Given the description of an element on the screen output the (x, y) to click on. 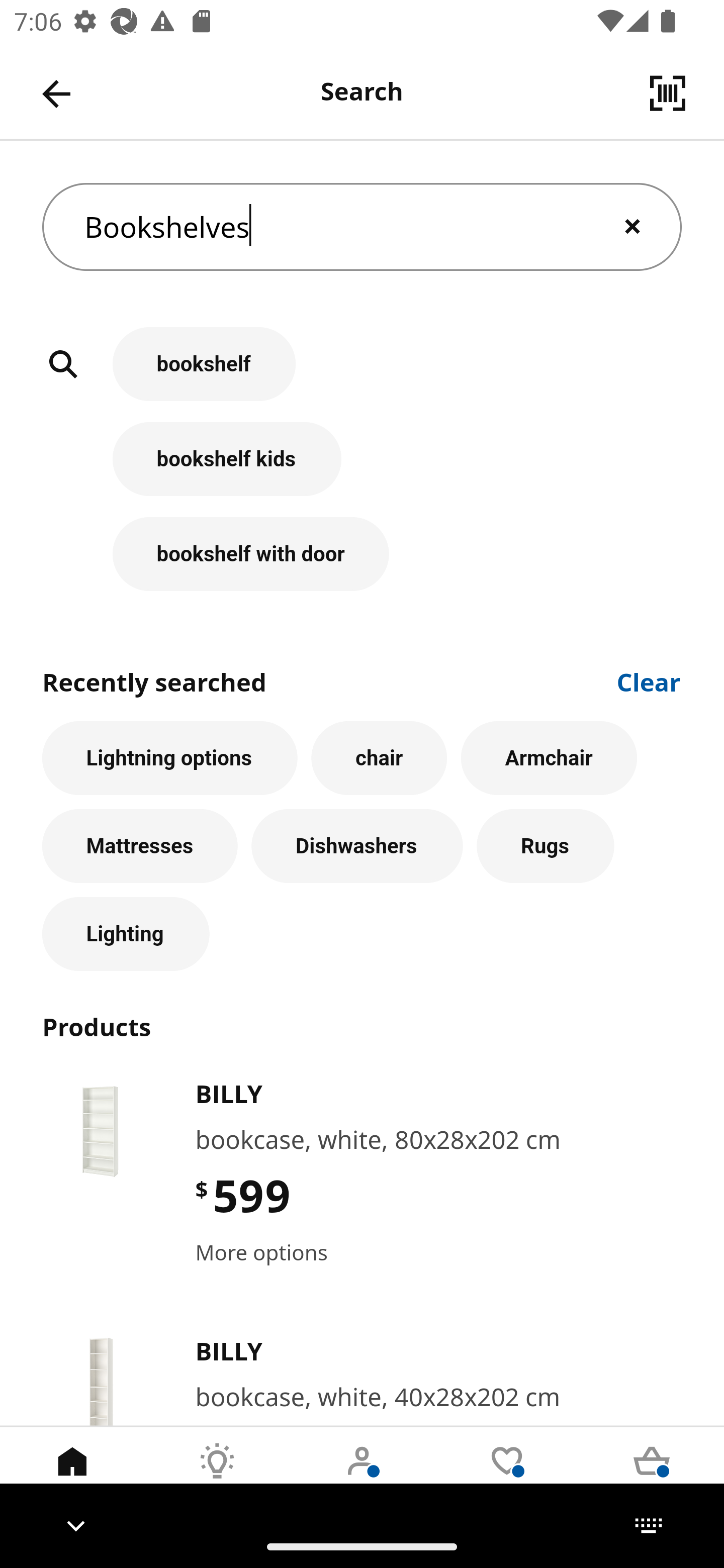
Bookshelves (361, 227)
bookshelf (361, 374)
bookshelf kids (361, 469)
bookshelf with door (361, 554)
Clear (649, 680)
Lightning options (169, 757)
chair (379, 757)
Armchair (549, 757)
Mattresses (139, 845)
Dishwashers (357, 845)
Rugs (545, 845)
Lighting (125, 933)
​B​I​L​L​Y​
bookcase, white, 40x28x202 cm
$
379 (361, 1378)
Home
Tab 1 of 5 (72, 1476)
Inspirations
Tab 2 of 5 (216, 1476)
User
Tab 3 of 5 (361, 1476)
Wishlist
Tab 4 of 5 (506, 1476)
Cart
Tab 5 of 5 (651, 1476)
